Given the description of an element on the screen output the (x, y) to click on. 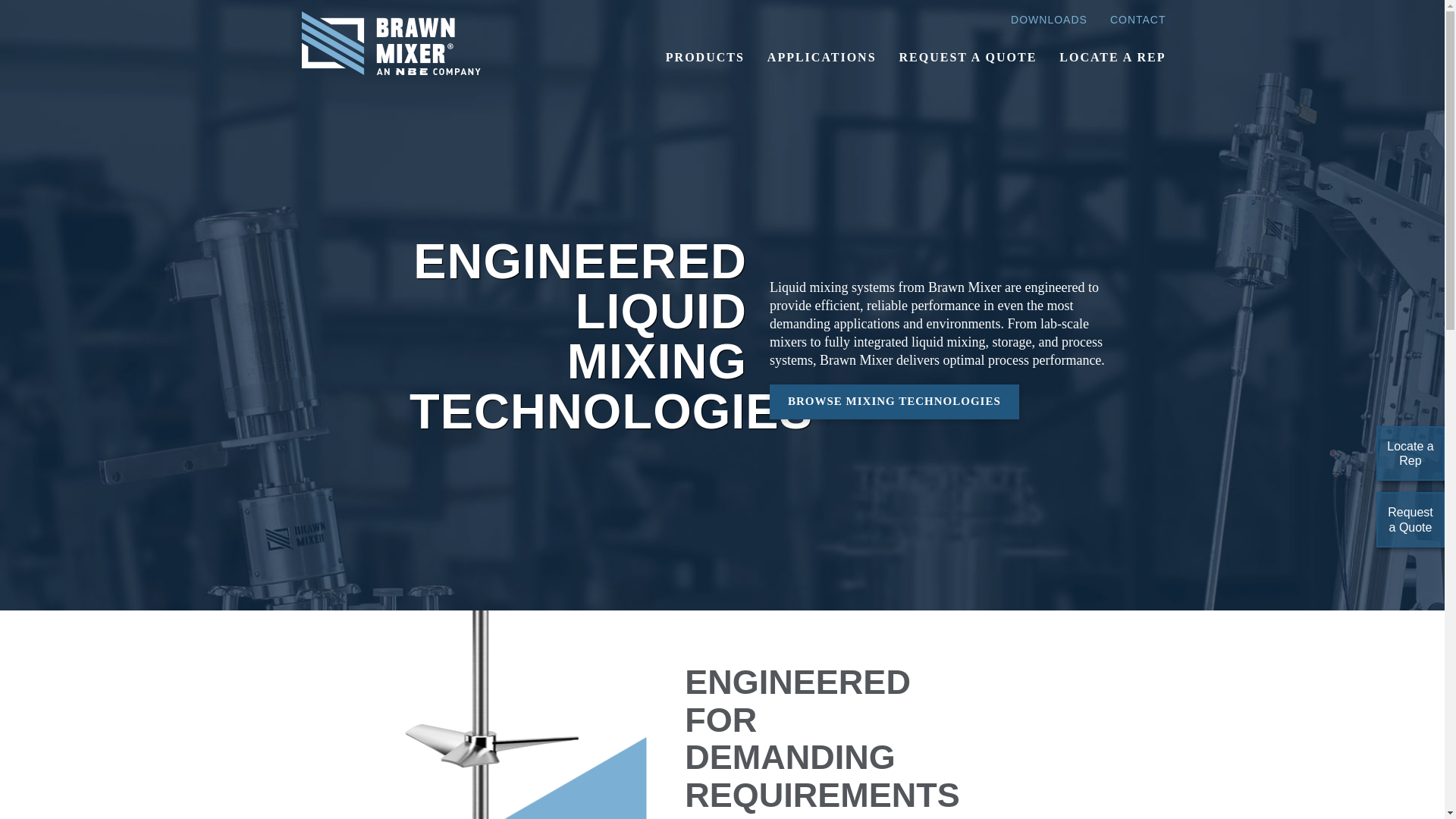
REQUEST A QUOTE (968, 57)
PRODUCTS (704, 57)
APPLICATIONS (821, 57)
LOCATE A REP (1112, 57)
DOWNLOADS (1048, 19)
BROWSE MIXING TECHNOLOGIES (894, 401)
CONTACT (1138, 19)
